Given the description of an element on the screen output the (x, y) to click on. 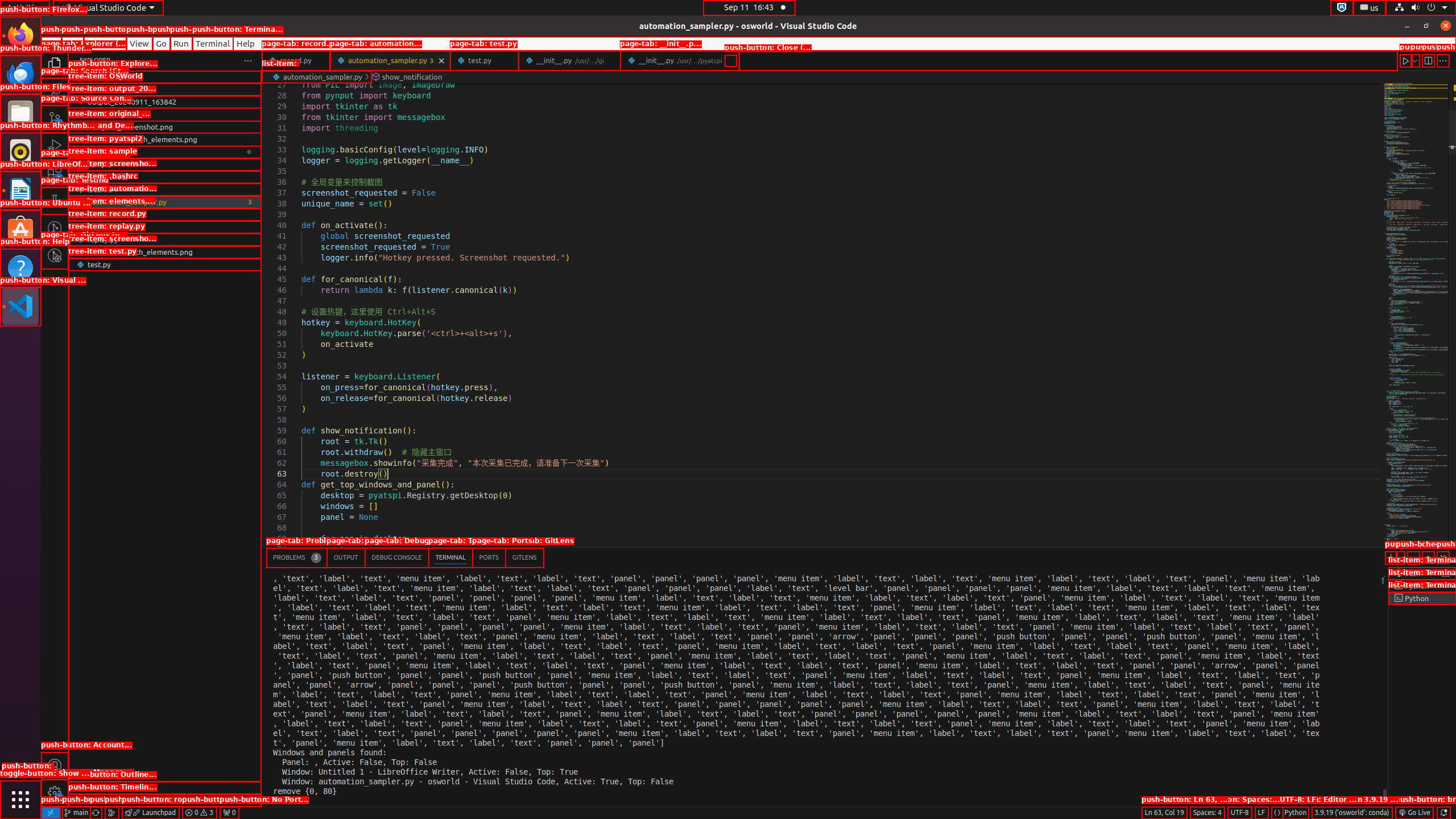
Manage - New Code update available. Element type: push-button (54, 792)
LF Element type: push-button (1261, 812)
Go Element type: push-button (161, 43)
Views and More Actions... Element type: push-button (1413, 557)
GitLens Element type: page-tab (524, 557)
